Given the description of an element on the screen output the (x, y) to click on. 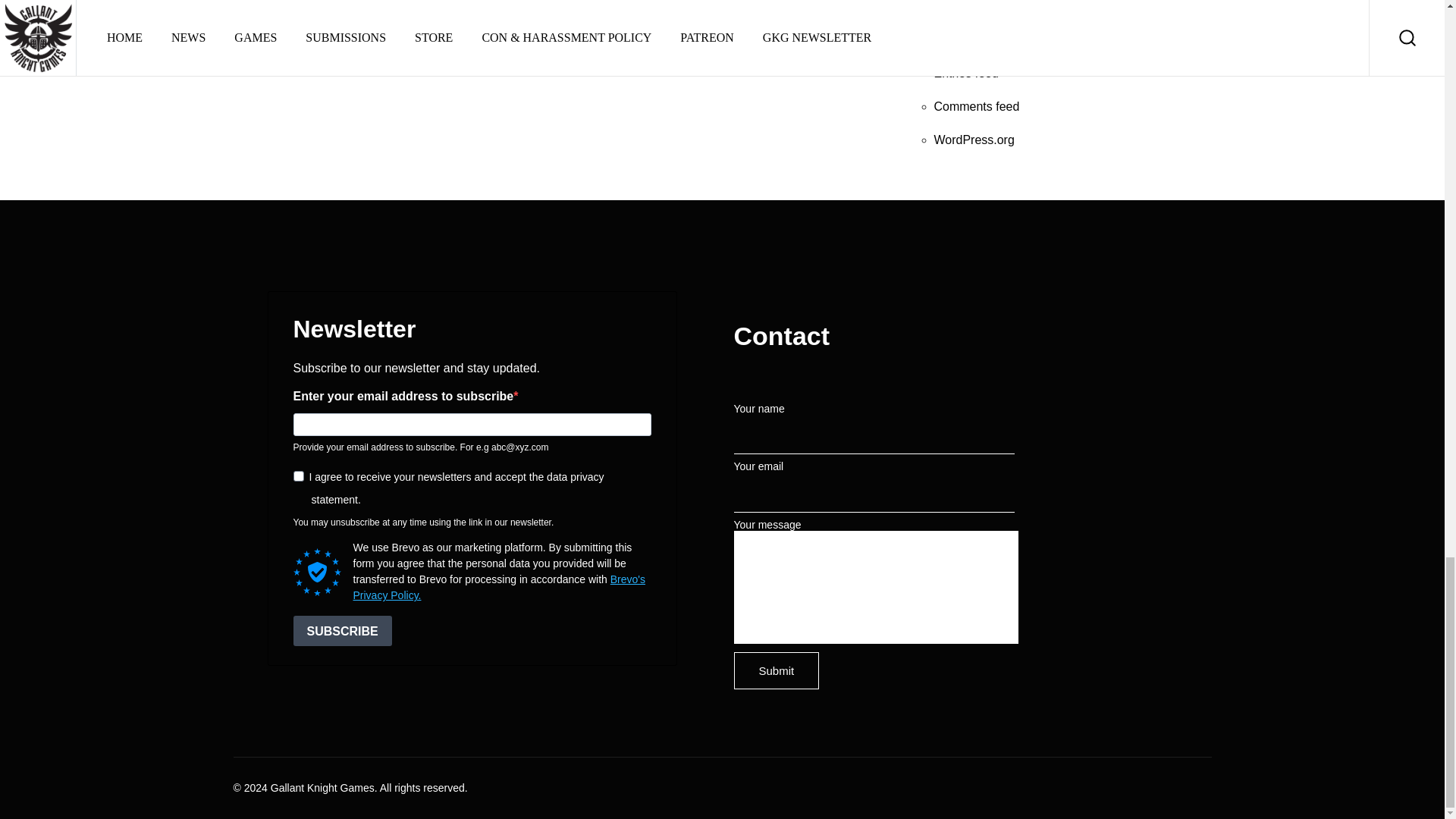
Submit (776, 670)
